Given the description of an element on the screen output the (x, y) to click on. 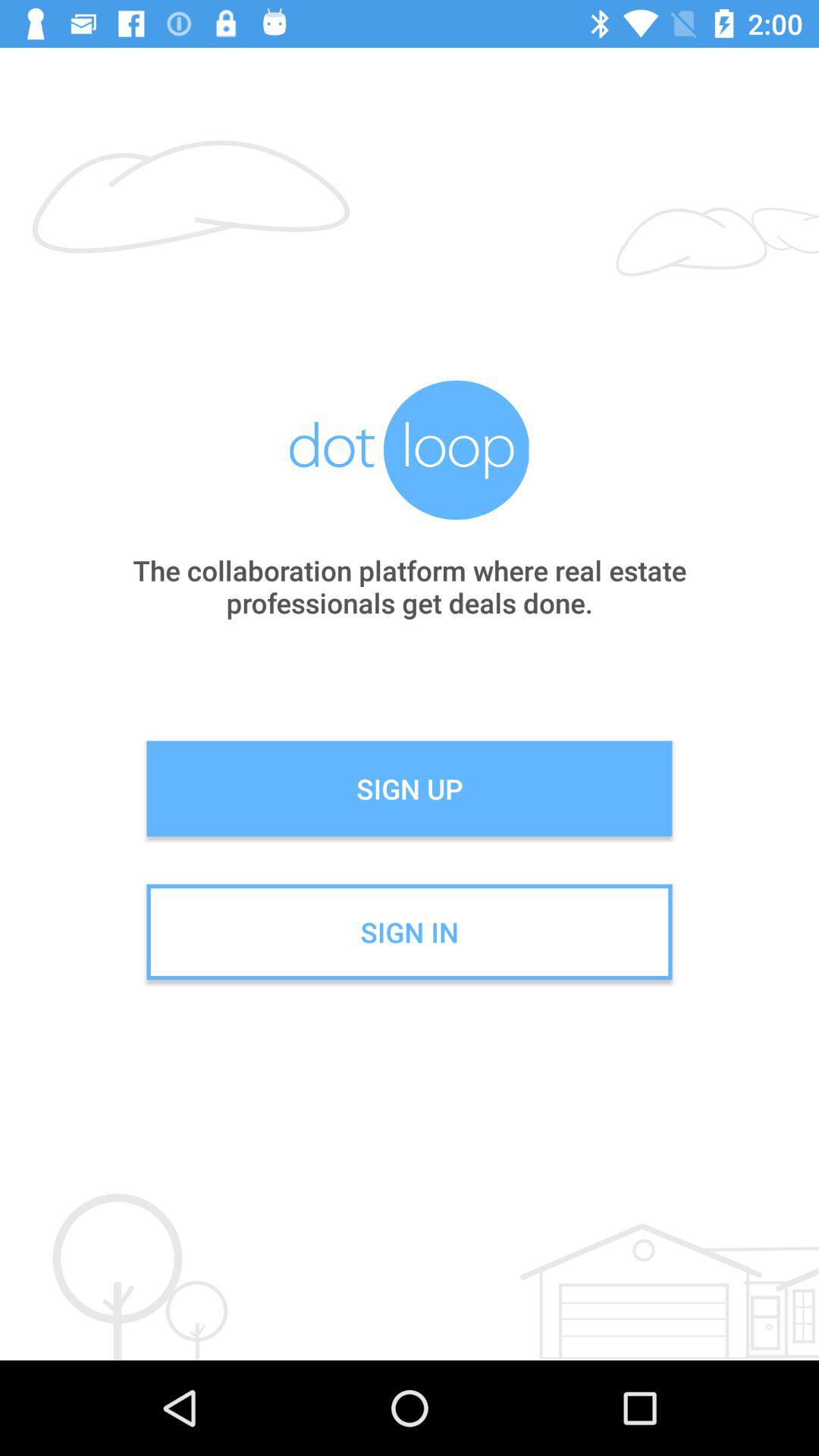
click the sign in icon (409, 931)
